Given the description of an element on the screen output the (x, y) to click on. 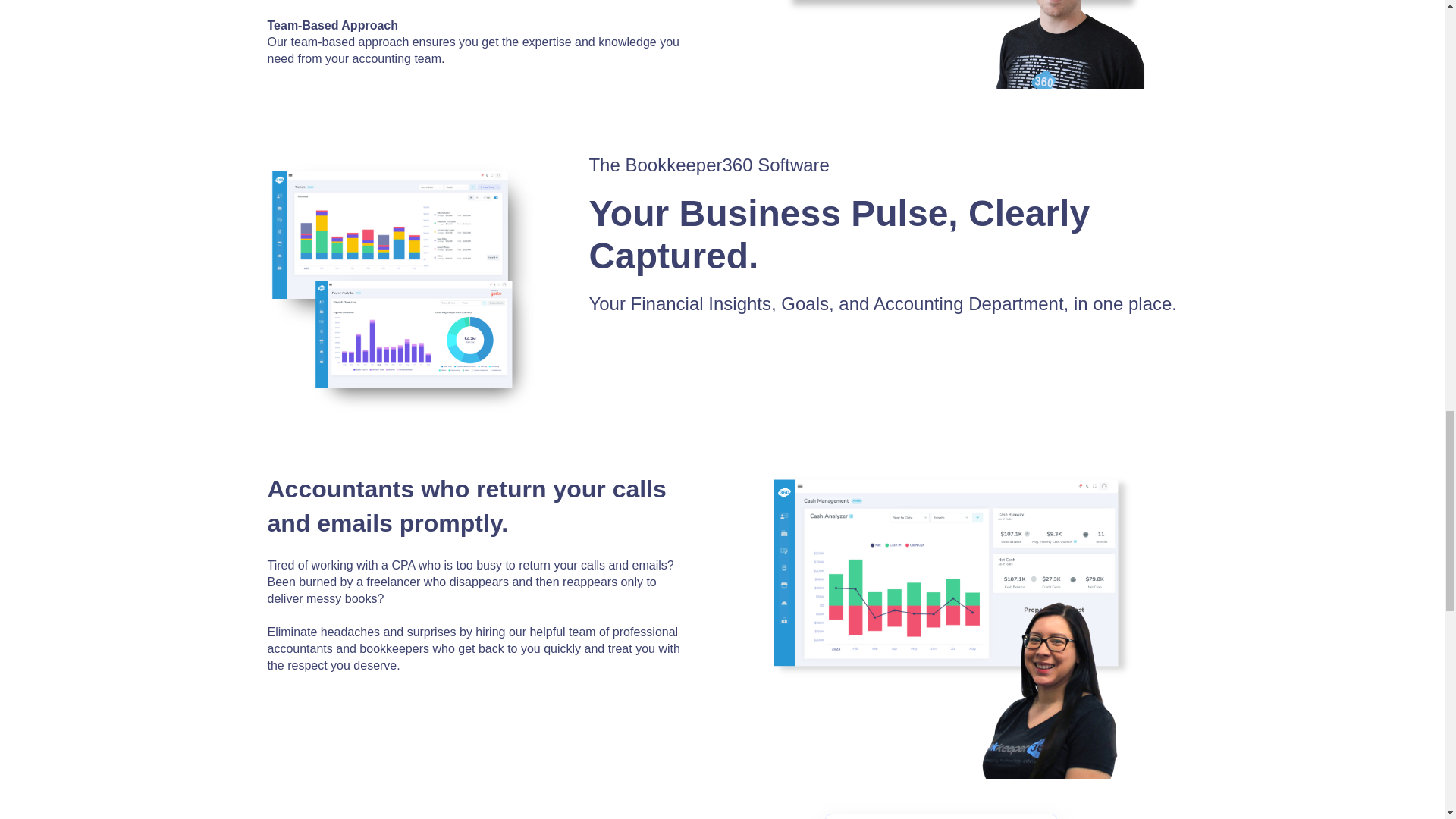
1-1 (963, 44)
2-2 (400, 287)
3-1 (963, 625)
